Given the description of an element on the screen output the (x, y) to click on. 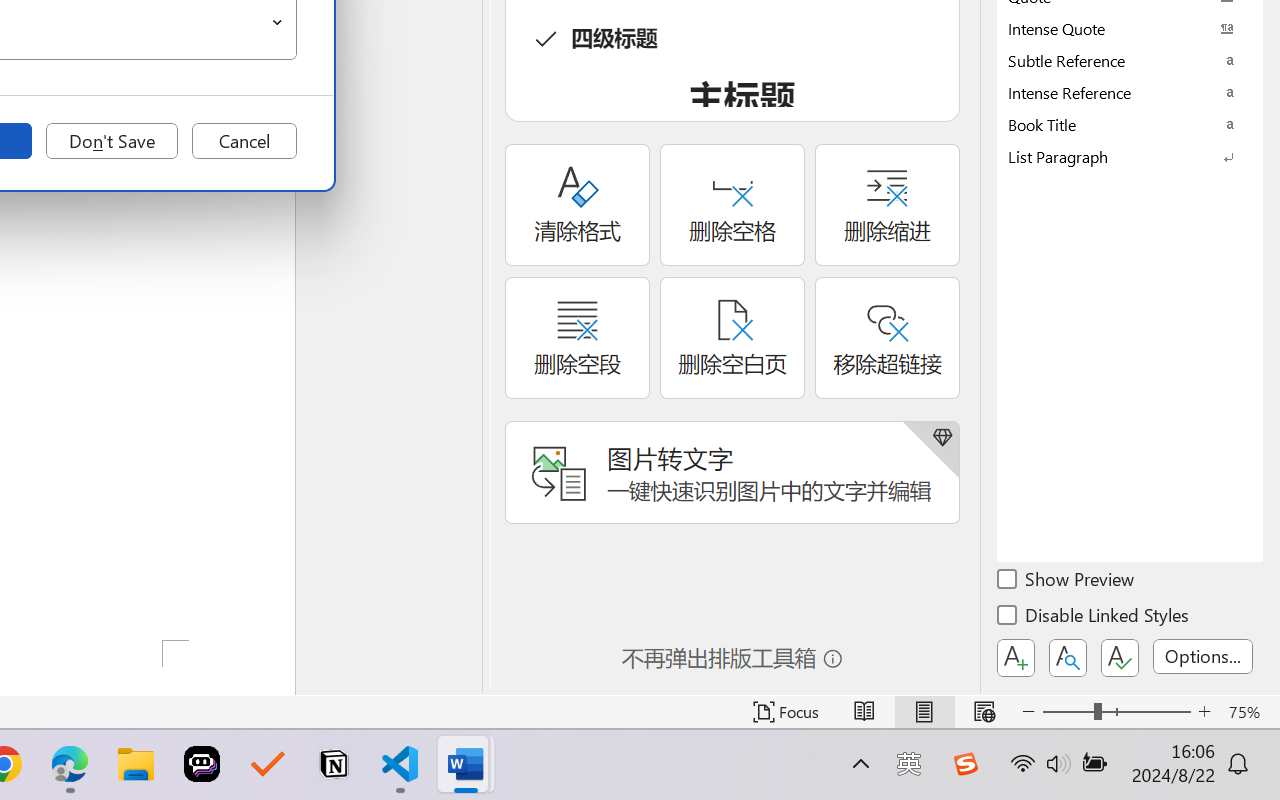
Class: Image (965, 764)
Cancel (244, 141)
Focus  (786, 712)
Zoom Out (1067, 712)
